Given the description of an element on the screen output the (x, y) to click on. 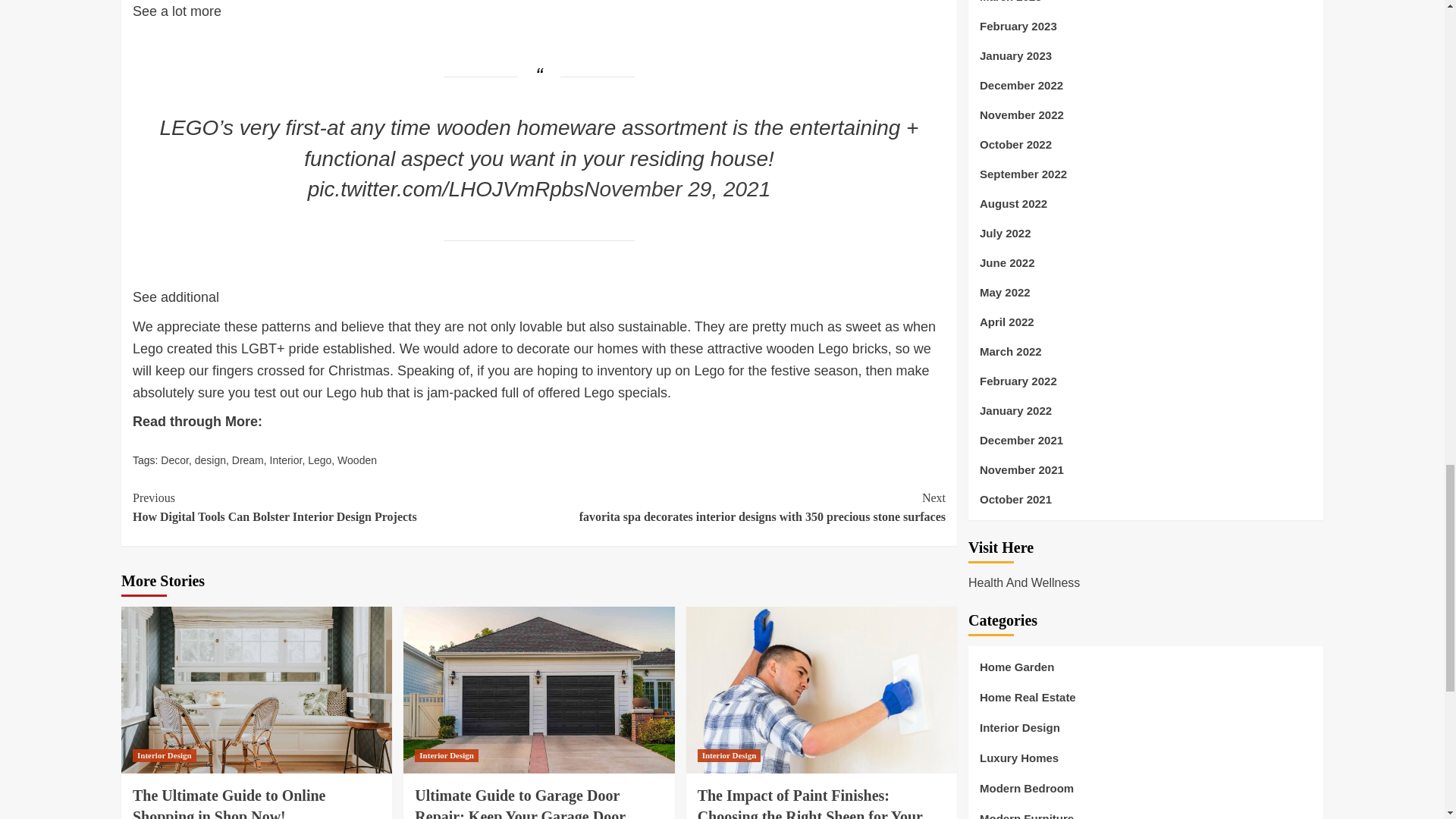
The Ultimate Guide to Online Shopping in Shop Now! (228, 803)
The Ultimate Guide to Online Shopping in Shop Now! (255, 689)
Interior (285, 460)
Dream (247, 460)
Lego (319, 460)
Wooden (357, 460)
Decor (174, 460)
November 29, 2021 (676, 188)
design (210, 460)
Interior Design (164, 755)
